Given the description of an element on the screen output the (x, y) to click on. 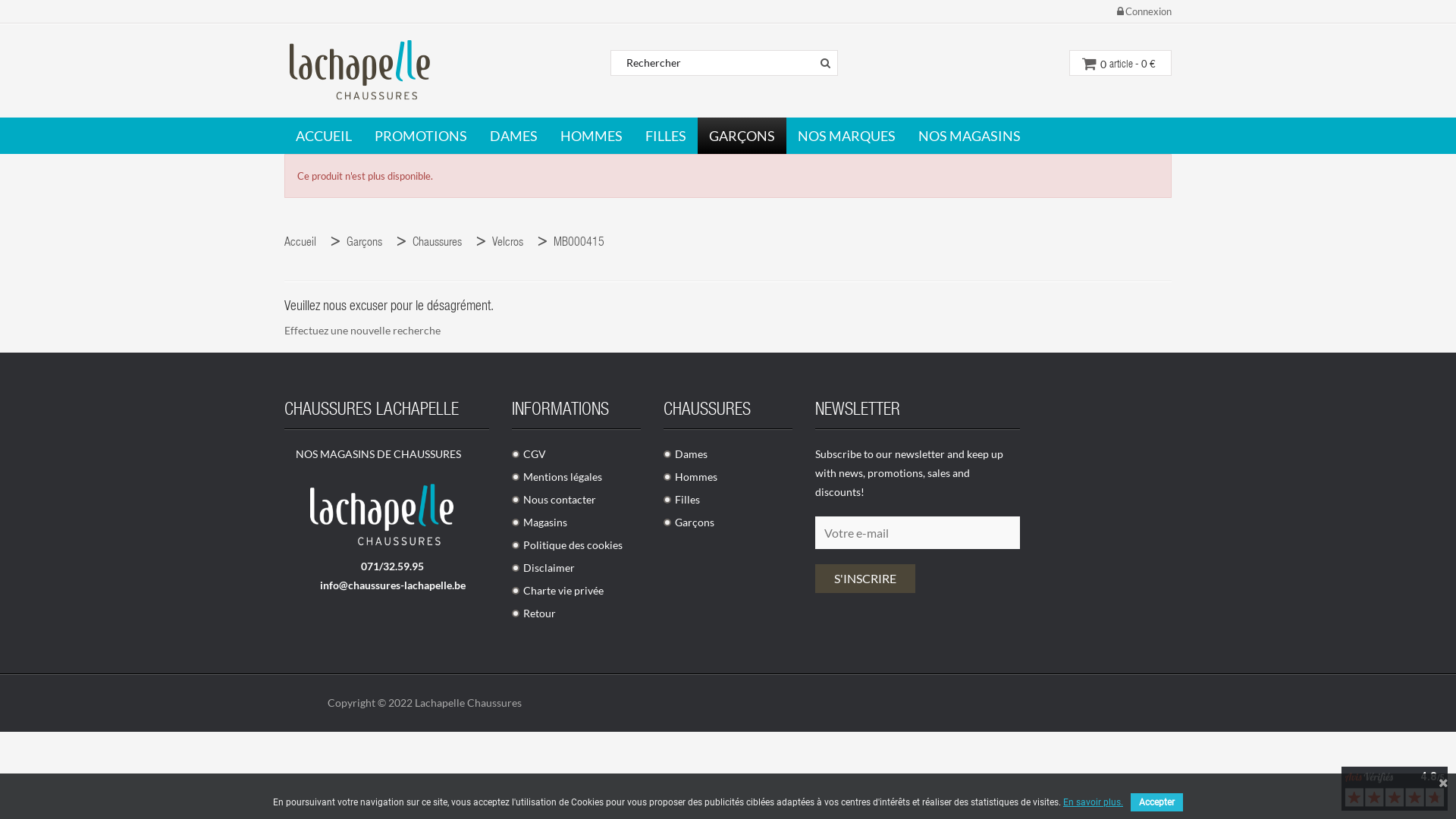
071/32.59.95 Element type: text (386, 565)
Connexion Element type: text (1144, 11)
NOS MAGASINS Element type: text (969, 135)
info@chaussures-lachapelle.be Element type: text (386, 584)
HOMMES Element type: text (591, 135)
PROMOTIONS Element type: text (420, 135)
NOS MAGASINS DE CHAUSSURES Element type: text (372, 453)
Accueil Element type: text (303, 243)
Magasins Element type: text (539, 521)
Nous contacter Element type: text (553, 498)
Accepter Element type: text (1156, 802)
Chaussures Element type: text (440, 243)
MB000415 Element type: text (582, 243)
Velcros Element type: text (511, 243)
Filles Element type: text (681, 498)
En savoir plus. Element type: text (1093, 801)
Politique des cookies Element type: text (566, 544)
FILLES Element type: text (665, 135)
DAMES Element type: text (513, 135)
Retour Element type: text (533, 612)
S'INSCRIRE Element type: text (865, 578)
Disclaimer Element type: text (542, 567)
ACCUEIL Element type: text (323, 135)
Hommes Element type: text (690, 476)
CGV Element type: text (528, 453)
Dames Element type: text (685, 453)
NOS MARQUES Element type: text (846, 135)
